Given the description of an element on the screen output the (x, y) to click on. 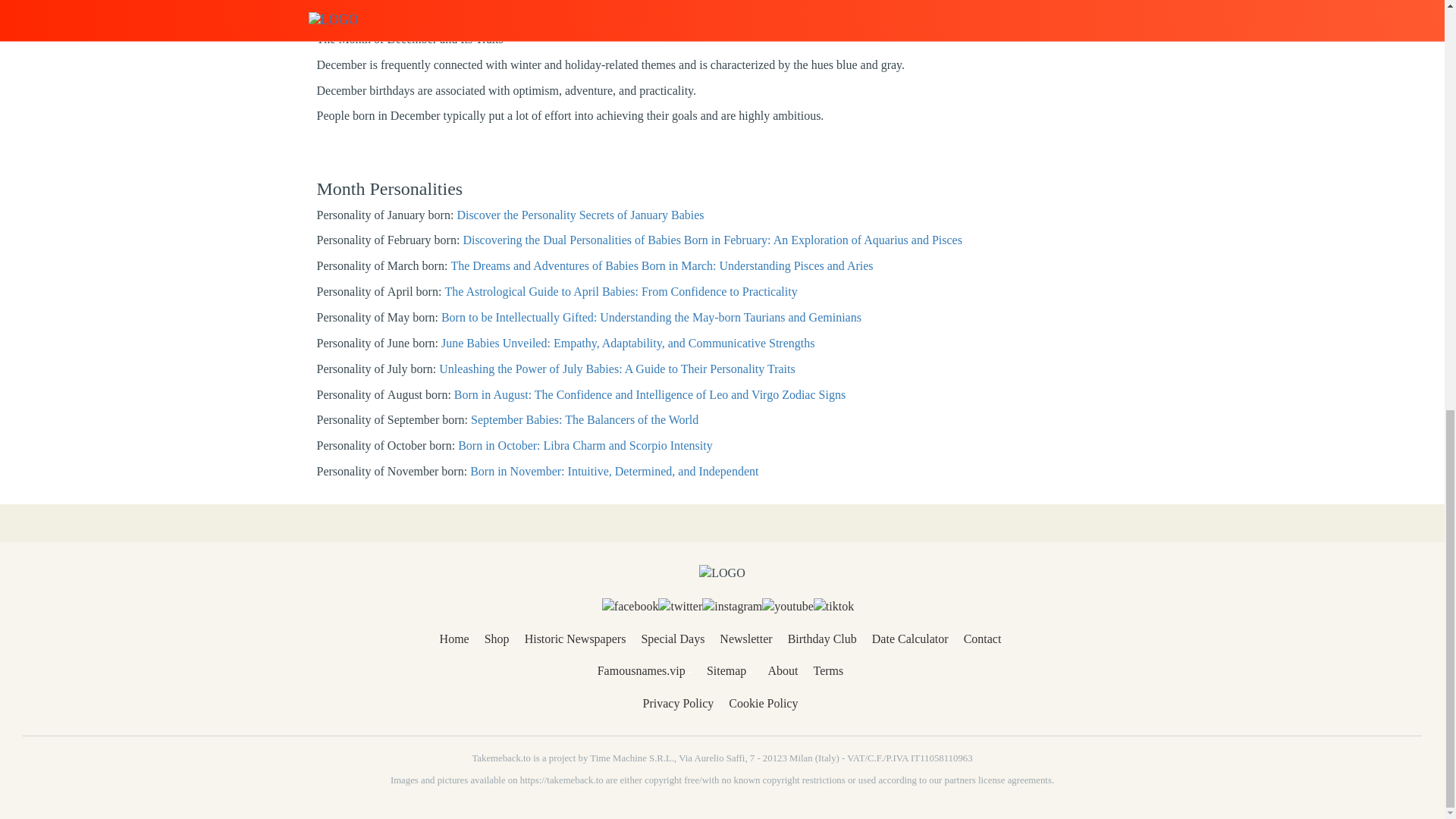
Cookie Policy  (763, 703)
Date Calculator (910, 638)
Sitemap (725, 670)
who is Capricorn attracted to? (958, 1)
Discover the Personality Secrets of January Babies (580, 214)
Shop (496, 638)
Special Days (672, 638)
